Given the description of an element on the screen output the (x, y) to click on. 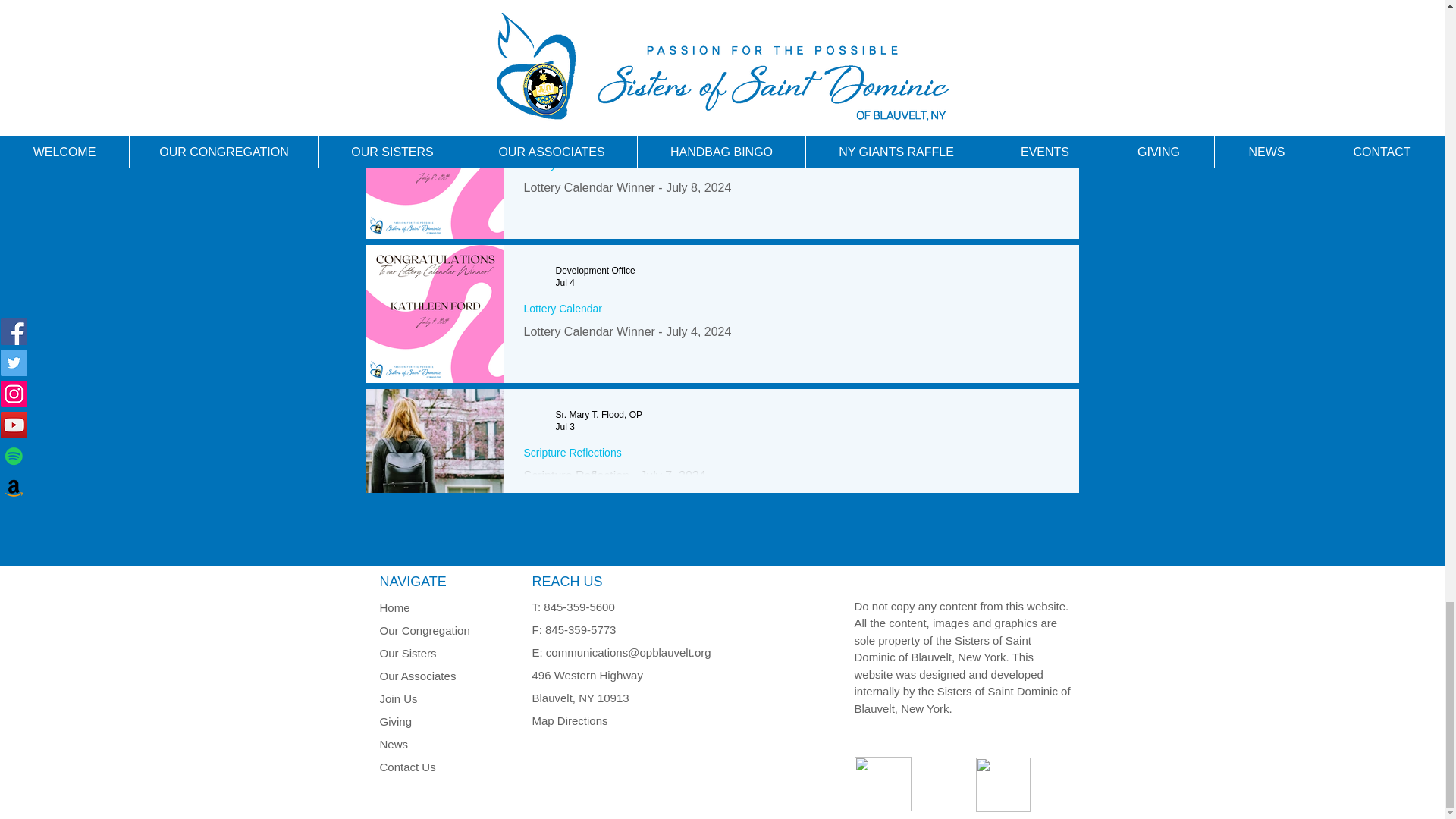
Jul 3 (563, 426)
Sr. Mary T. Flood, OP (598, 414)
7 days ago (576, 29)
Development Office (594, 270)
Sr. Mary Doris, OP (592, 17)
Development Office (594, 126)
Jul 8 (563, 138)
Jul 4 (563, 282)
